Given the description of an element on the screen output the (x, y) to click on. 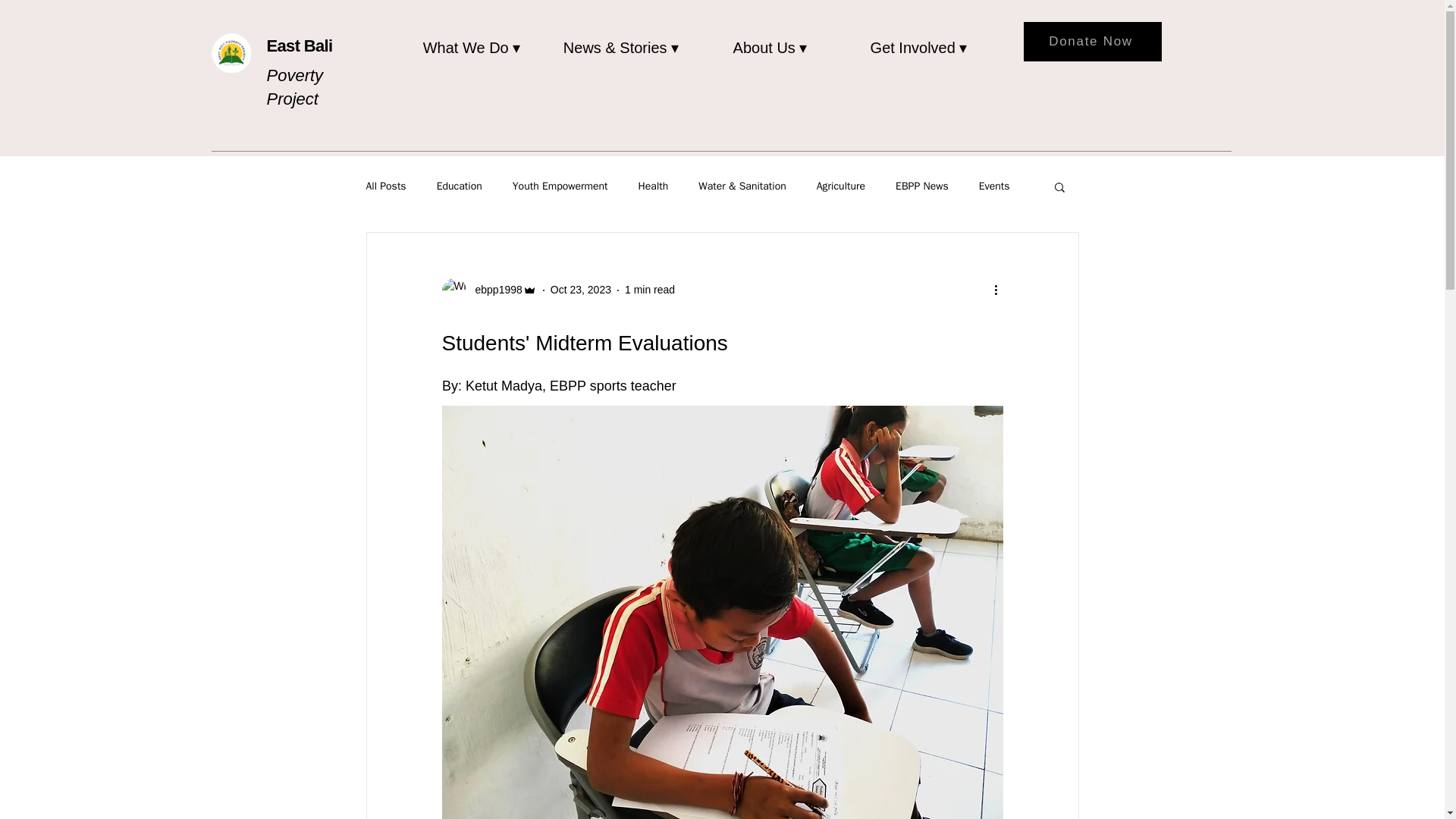
Donate Now (1092, 41)
Group 34.png (230, 52)
EBPP News (922, 186)
1 min read (649, 289)
Events (994, 186)
ebpp1998 (488, 290)
ebpp1998 (493, 289)
Oct 23, 2023 (580, 289)
All Posts (385, 186)
Youth Empowerment (560, 186)
